Given the description of an element on the screen output the (x, y) to click on. 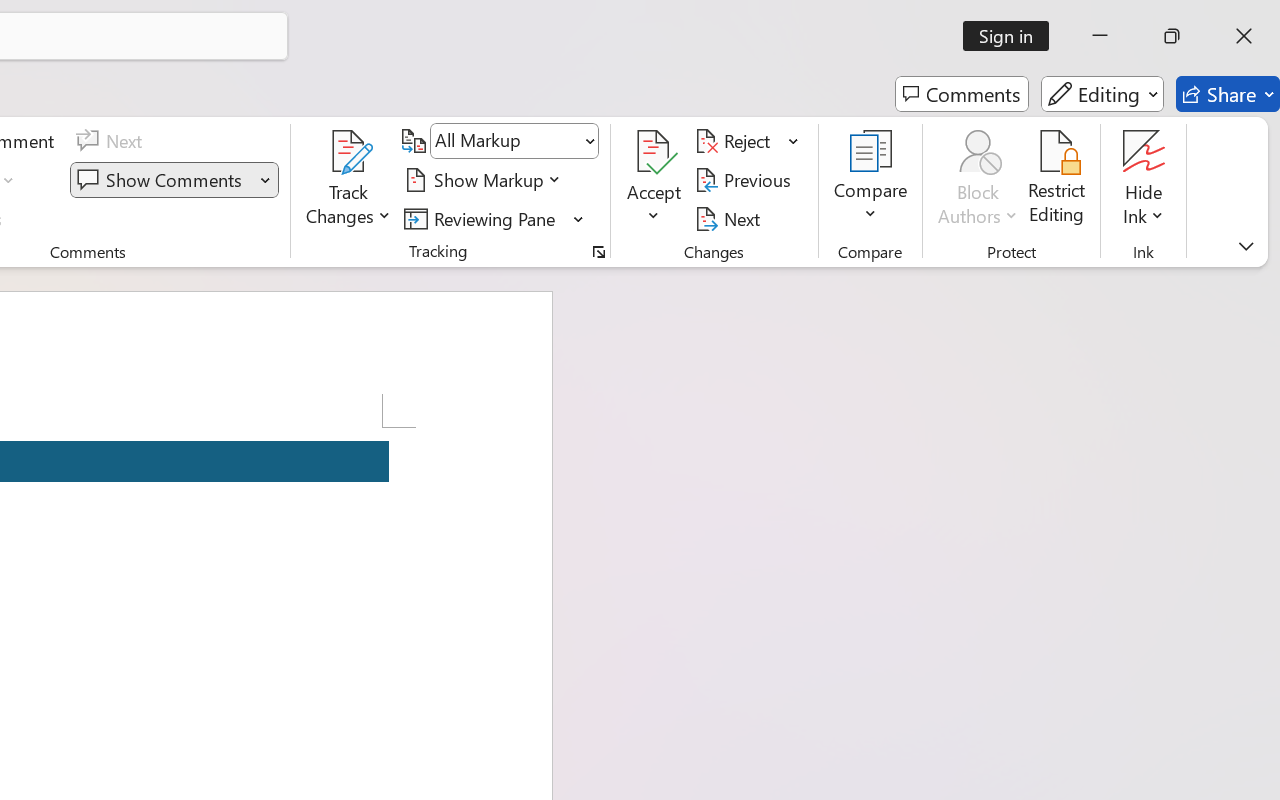
Block Authors (977, 179)
Reject and Move to Next (735, 141)
Track Changes (349, 151)
Show Markup (485, 179)
Hide Ink (1144, 151)
Change Tracking Options... (598, 252)
Editing (1101, 94)
Reviewing Pane (494, 218)
Sign in (1012, 35)
Accept (653, 179)
